Given the description of an element on the screen output the (x, y) to click on. 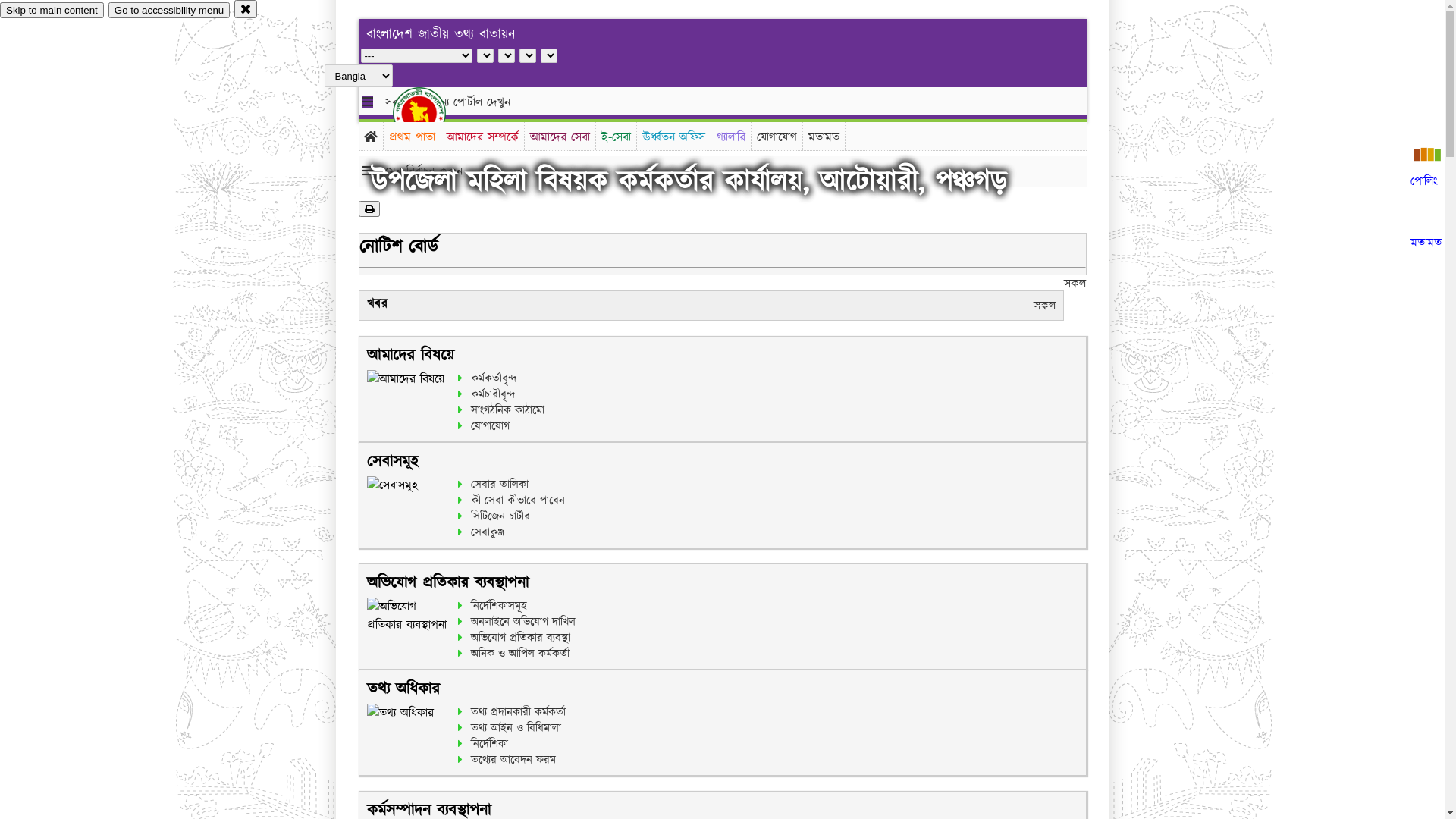
Go to accessibility menu Element type: text (168, 10)

                
             Element type: hover (431, 112)
Skip to main content Element type: text (51, 10)
close Element type: hover (245, 9)
